Given the description of an element on the screen output the (x, y) to click on. 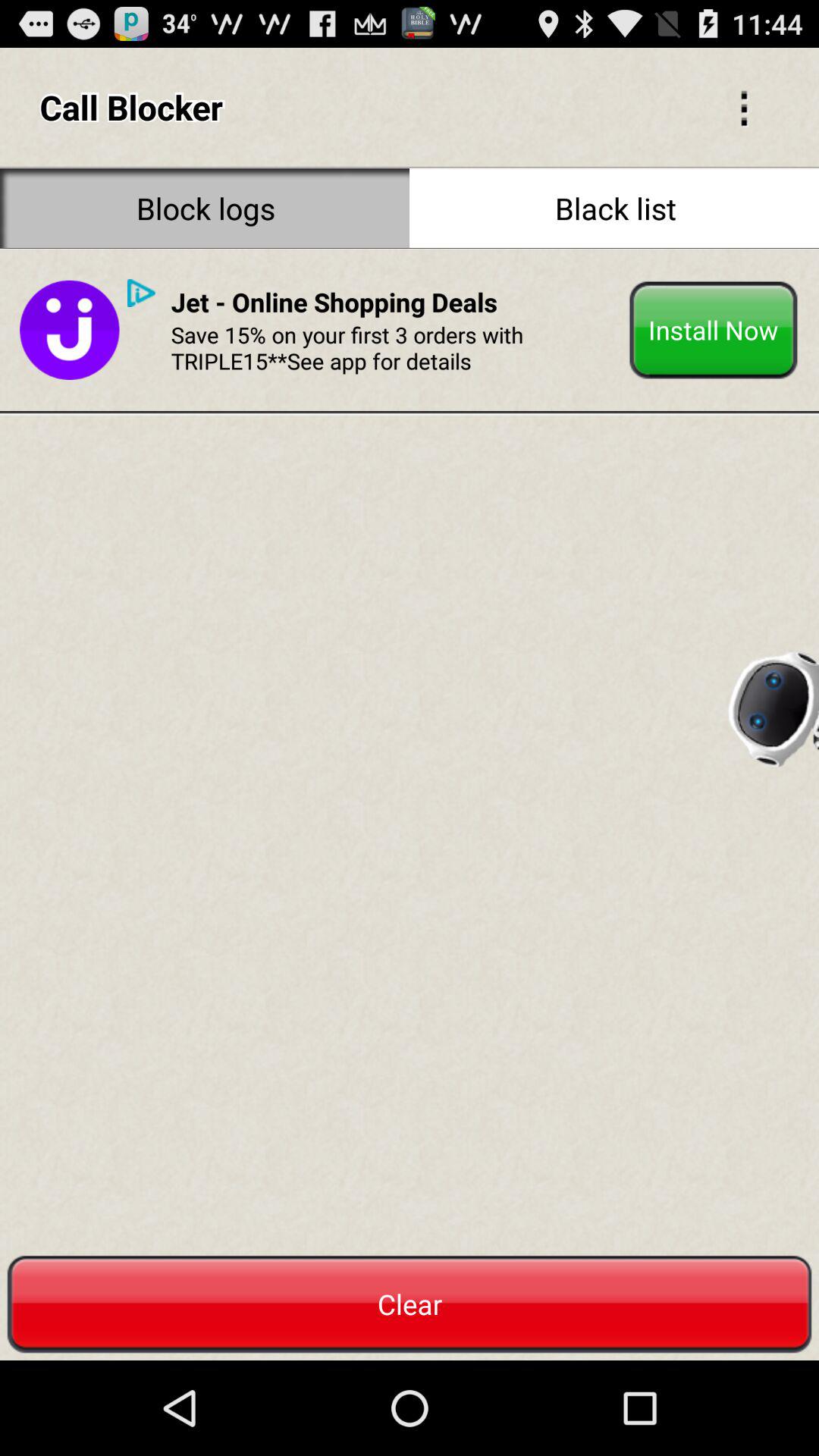
turn on icon to the left of install now icon (334, 301)
